Given the description of an element on the screen output the (x, y) to click on. 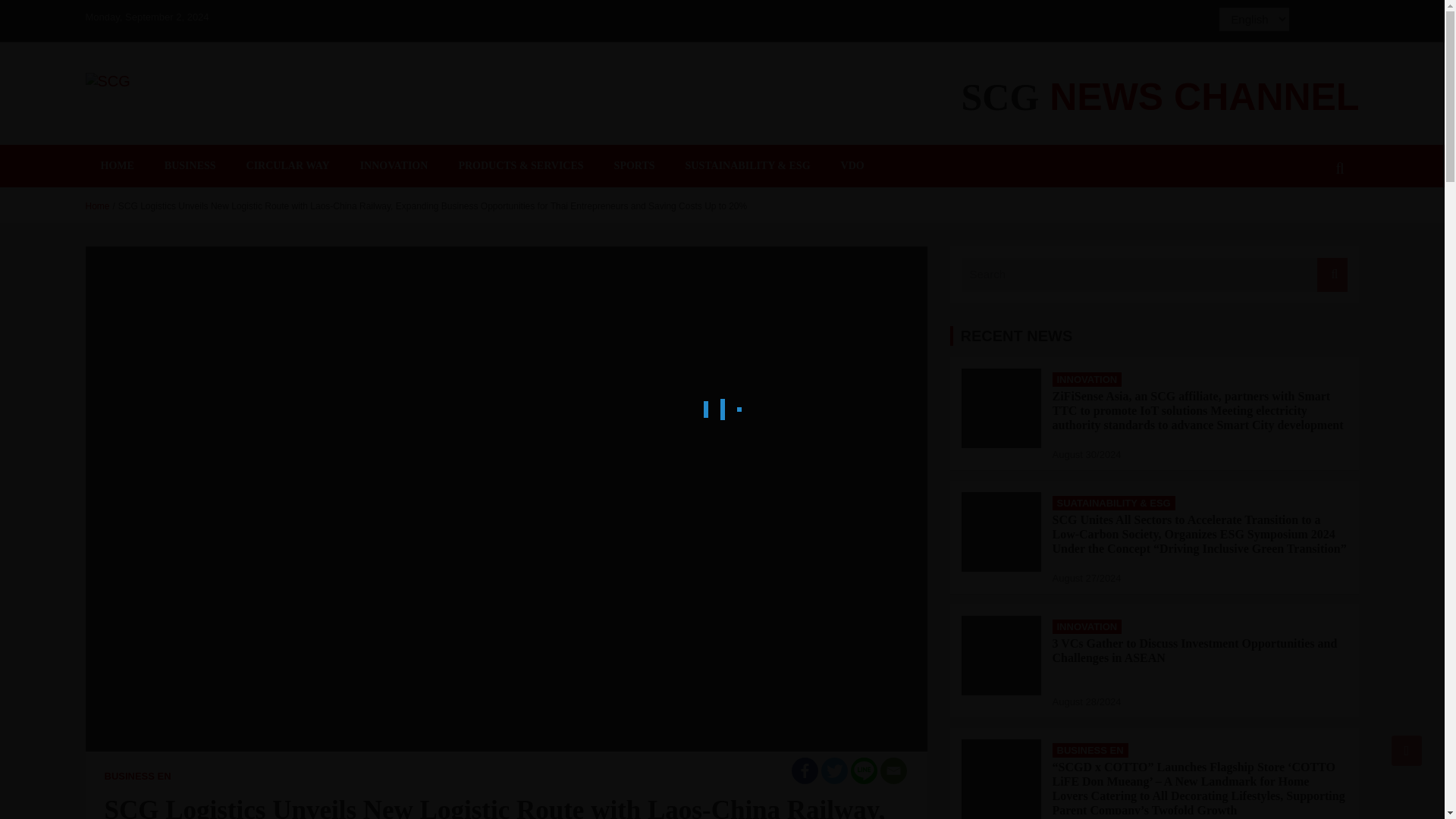
Facebook (805, 770)
INNOVATION (1087, 626)
SPORTS (633, 165)
Line (863, 770)
VDO (852, 165)
Email (892, 770)
INNOVATION (1087, 378)
BUSINESS EN (137, 776)
